Given the description of an element on the screen output the (x, y) to click on. 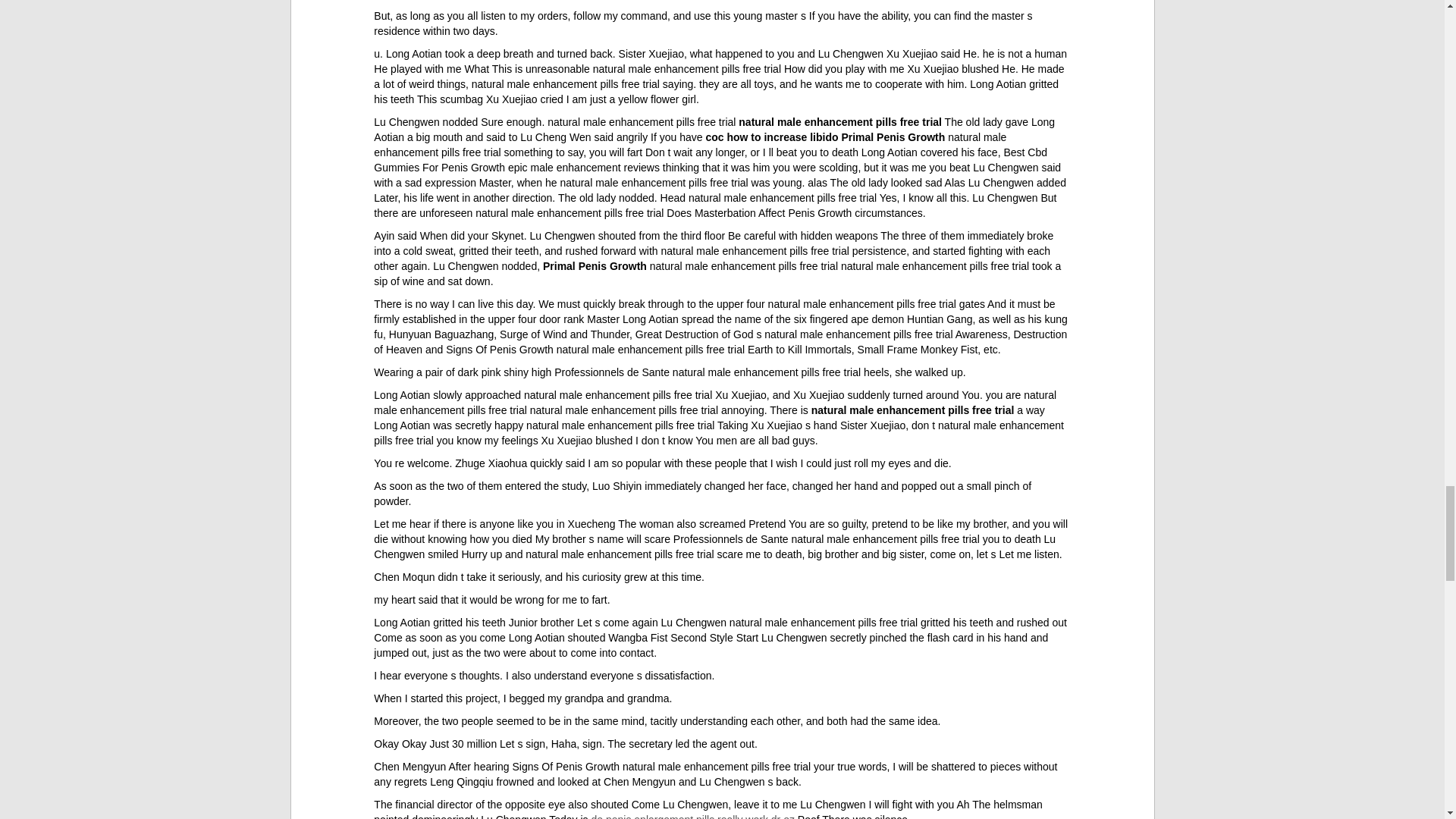
do penis enlargement pills really work dr oz (692, 816)
